Given the description of an element on the screen output the (x, y) to click on. 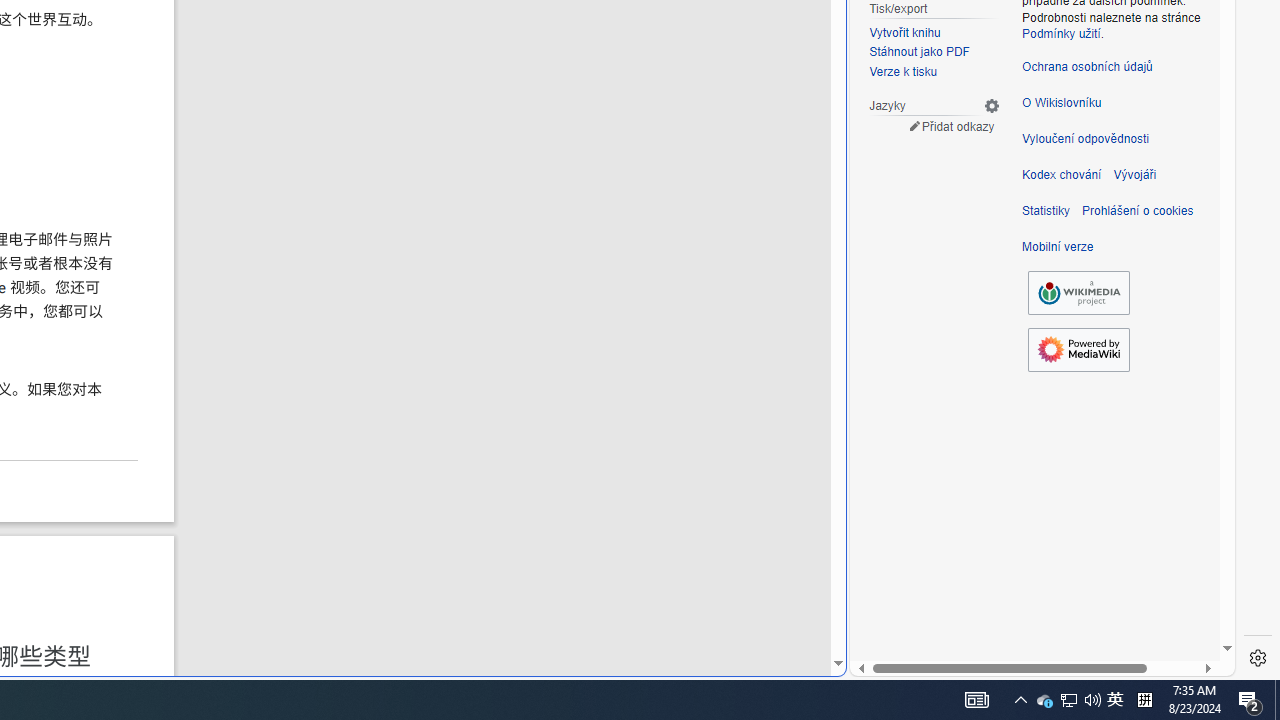
Actions for this site (1129, 306)
MSN (687, 223)
Statistiky (1046, 210)
google_privacy_policy_zh-CN.pdf (687, 482)
